Given the description of an element on the screen output the (x, y) to click on. 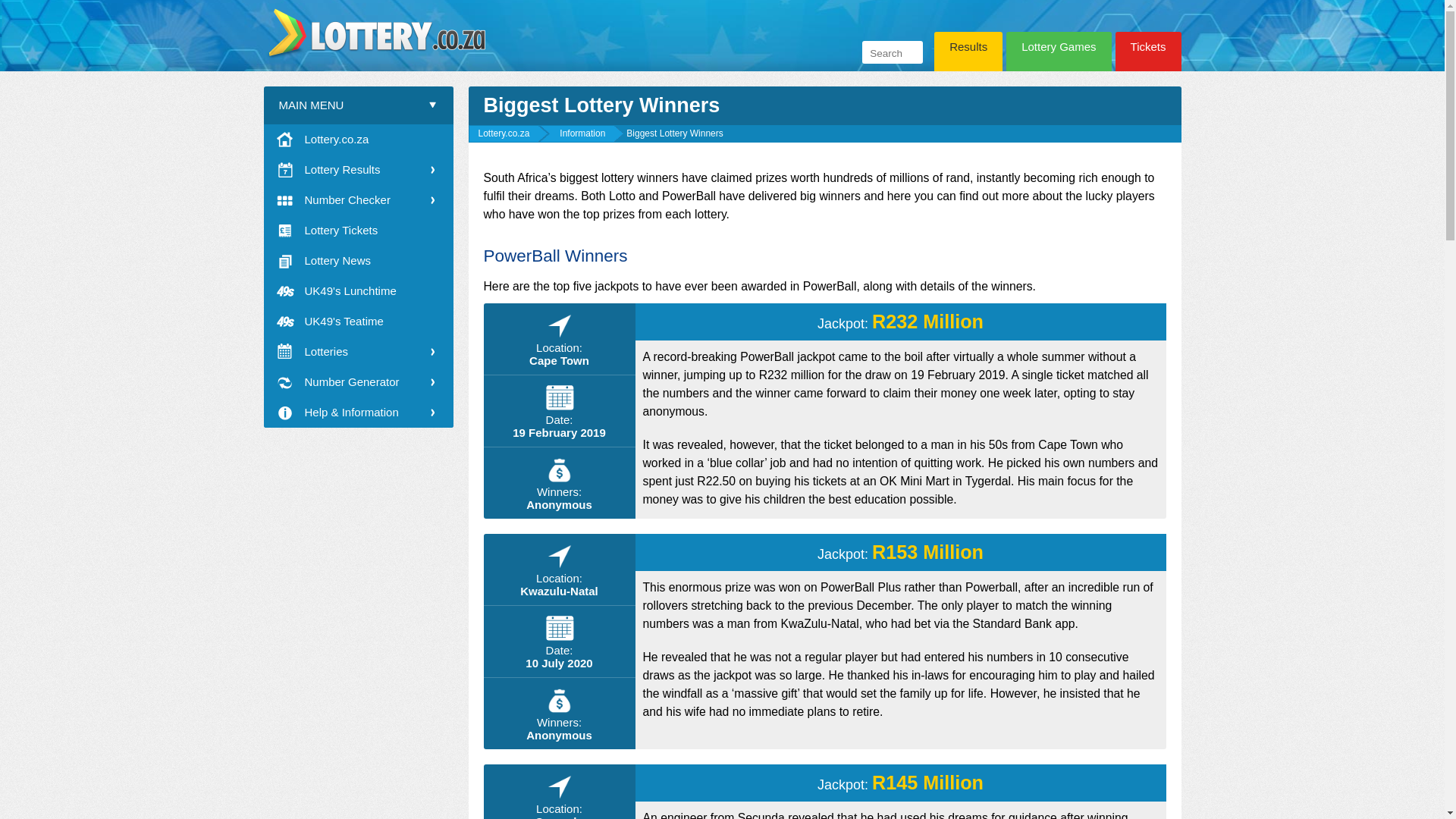
Lottery Games (1058, 53)
Lottery ZA (357, 139)
Lottery Results (357, 169)
UK49's Teatime (357, 321)
Lottery Tickets (357, 230)
UK49's Lunchtime (357, 291)
South Africa Lottery Homepage (377, 31)
Play Online (1147, 53)
Tickets (1147, 53)
Lottery News (357, 260)
